Given the description of an element on the screen output the (x, y) to click on. 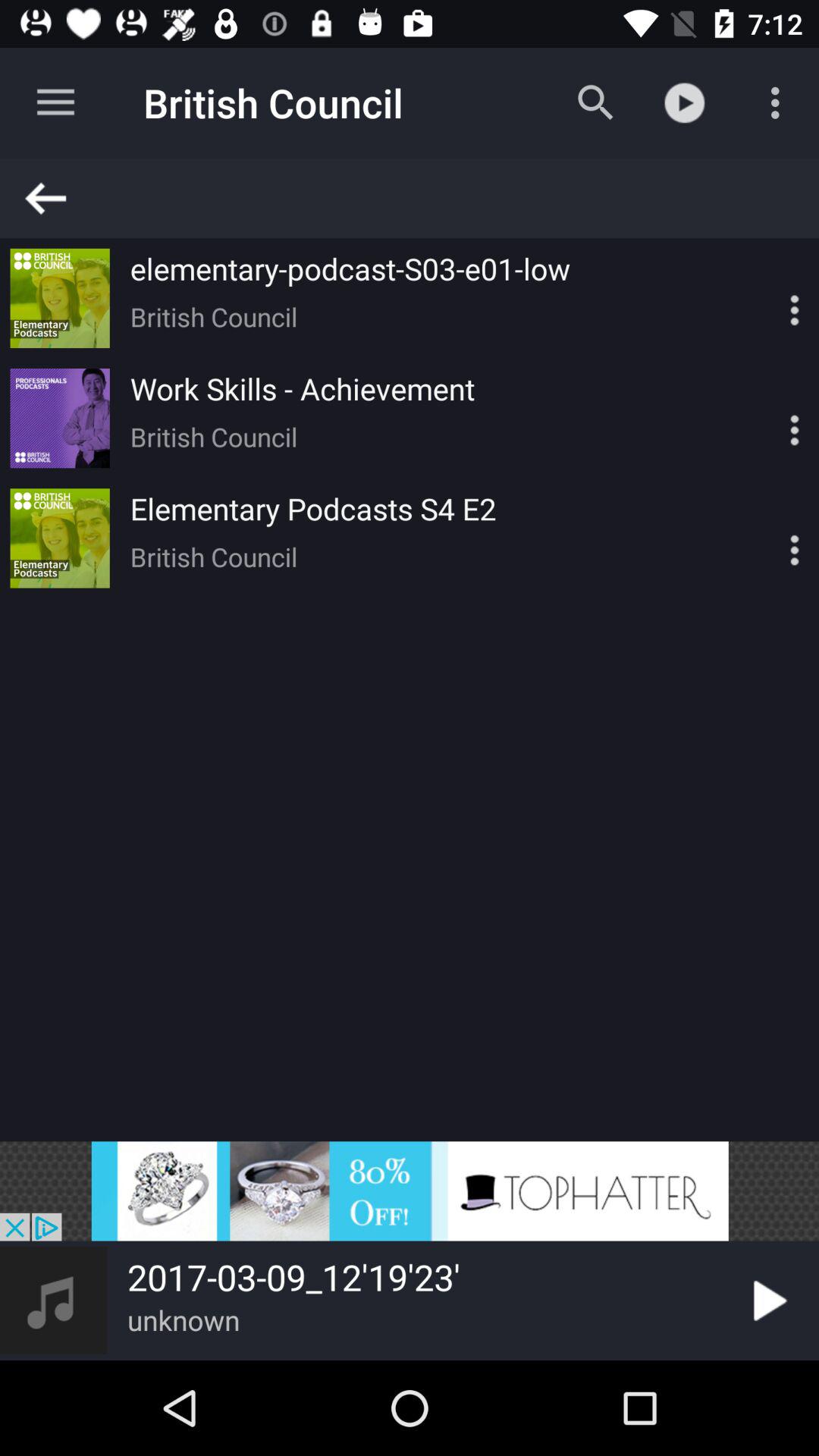
play (767, 1300)
